Given the description of an element on the screen output the (x, y) to click on. 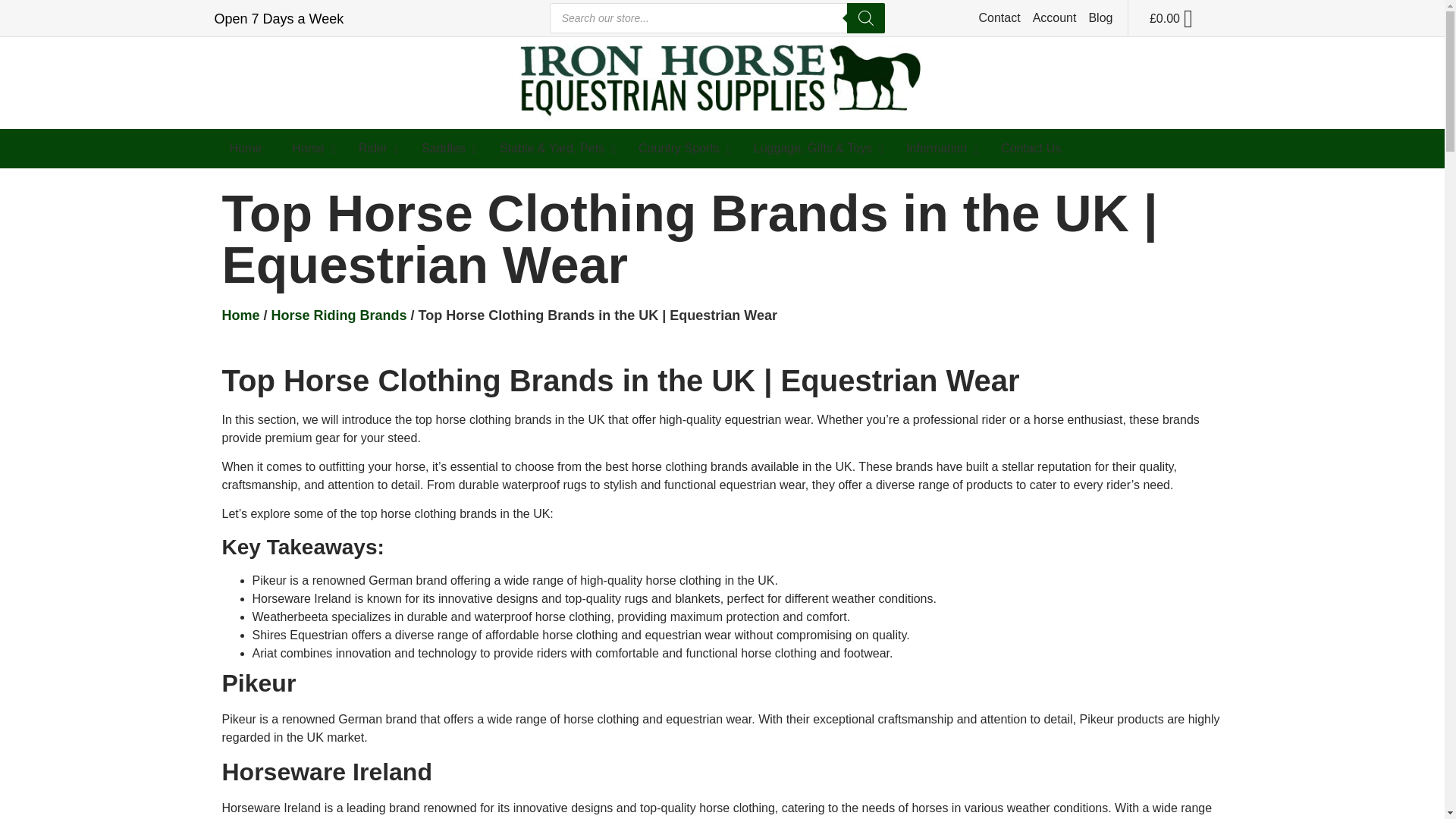
Blog (1099, 18)
Contact (999, 18)
Account (1054, 18)
